Given the description of an element on the screen output the (x, y) to click on. 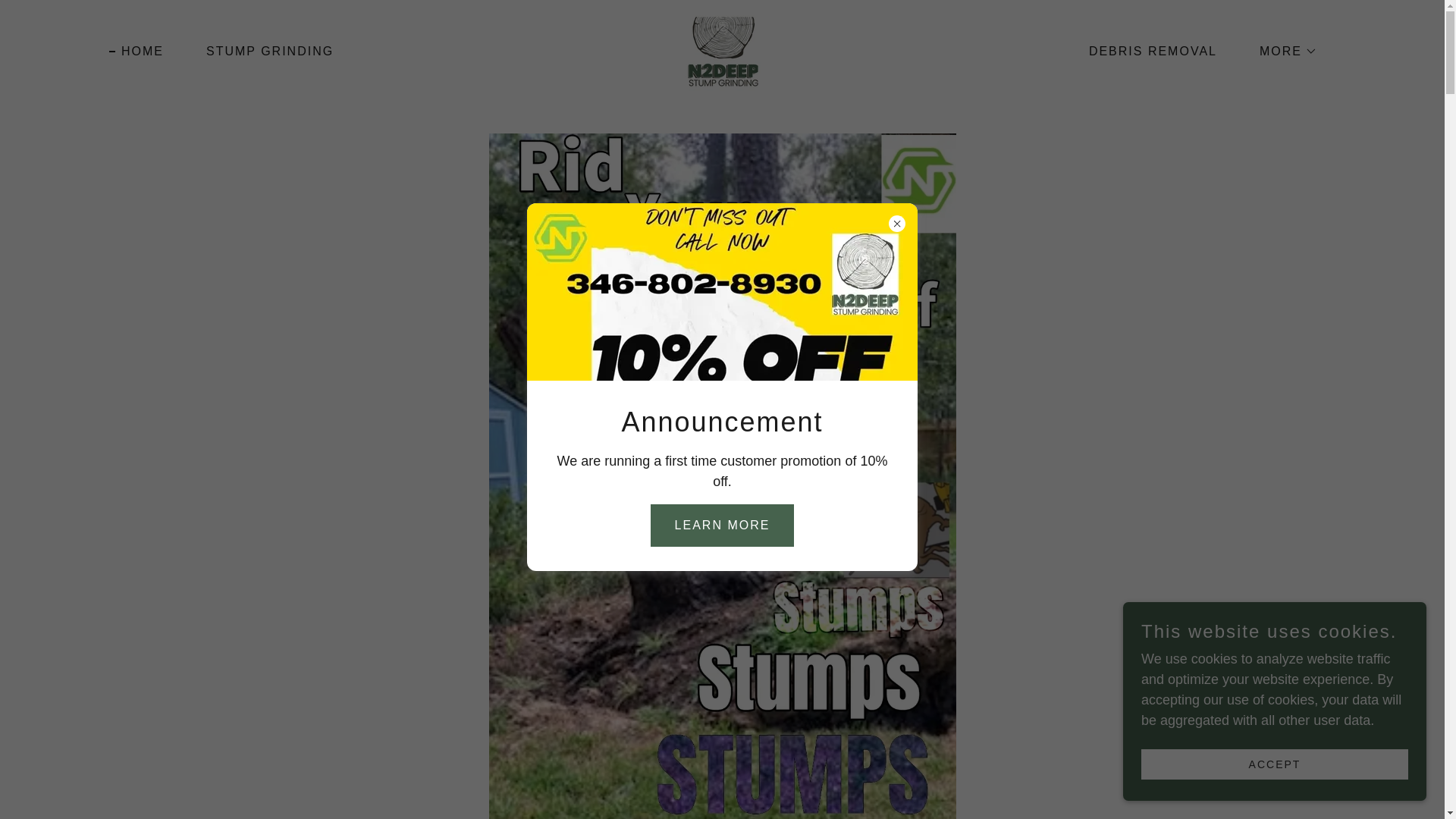
DEBRIS REMOVAL (721, 50)
STUMP GRINDING (1146, 51)
HOME (263, 51)
MORE (136, 51)
